Given the description of an element on the screen output the (x, y) to click on. 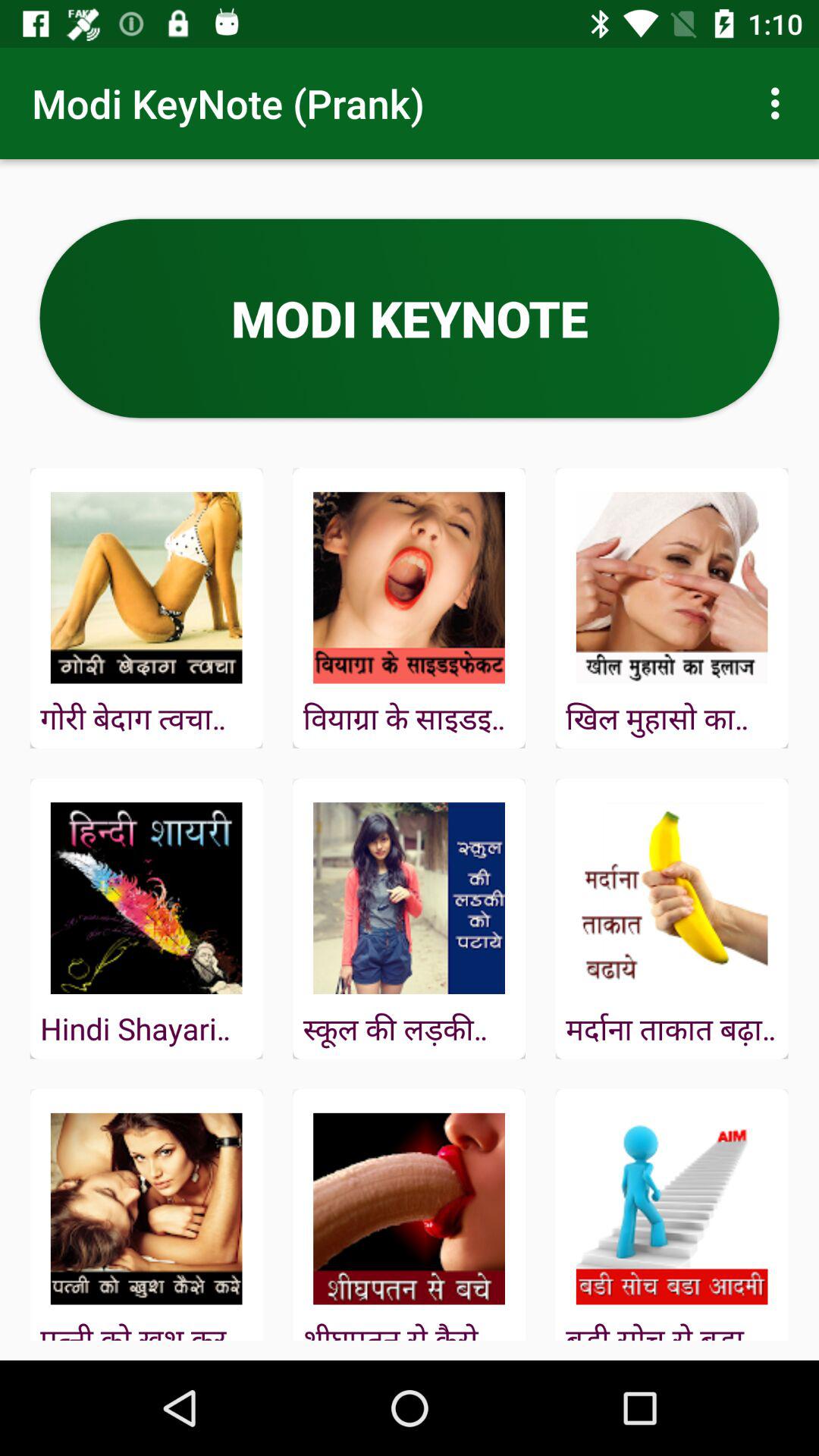
press item at the top right corner (779, 103)
